Given the description of an element on the screen output the (x, y) to click on. 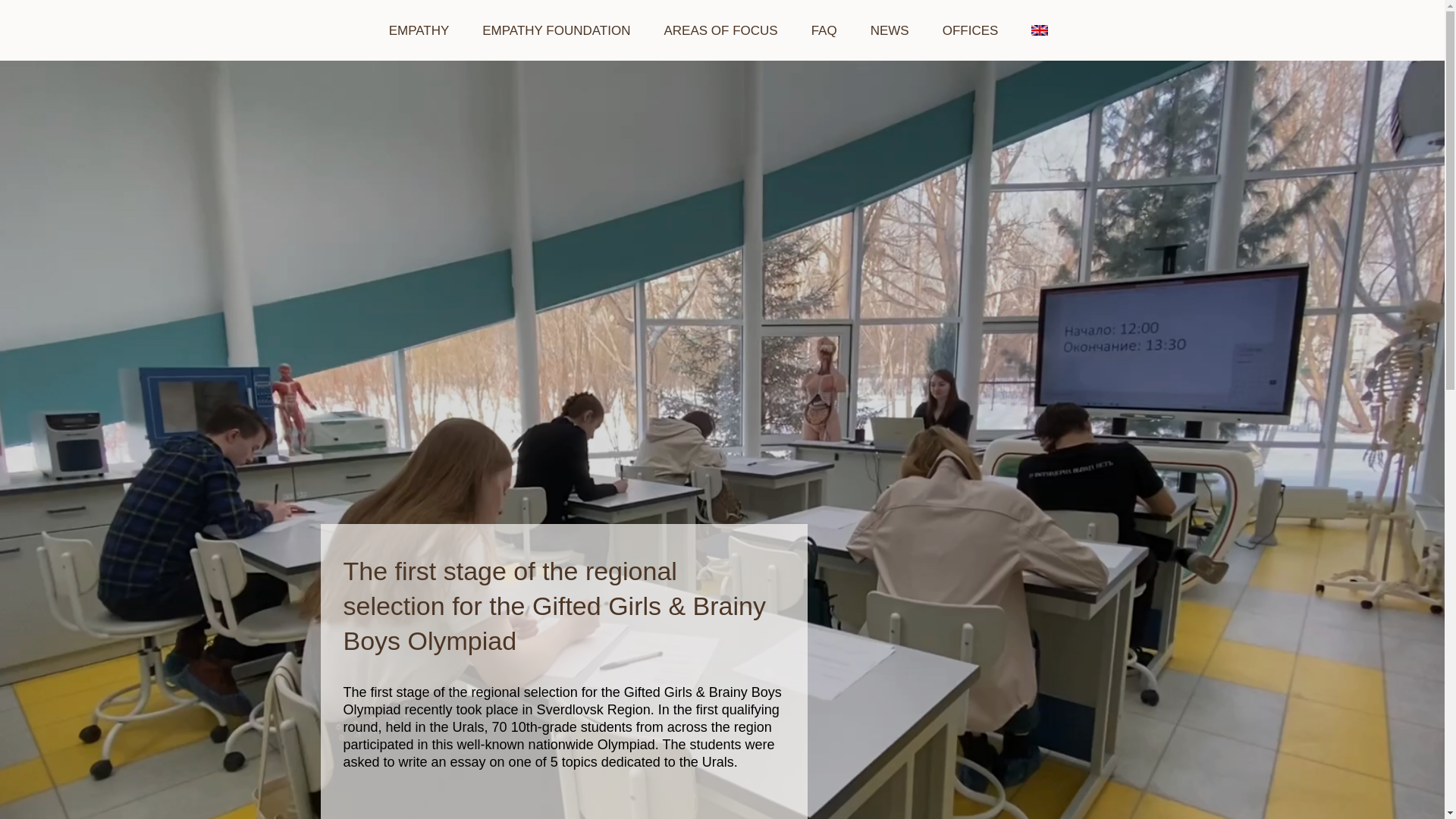
EMPATHY FOUNDATION (555, 30)
NEWS (889, 30)
AREAS OF FOCUS (719, 30)
WORKING WITH TEACHERS (721, 91)
WORKING WITH YOUTH (721, 153)
OFFICES (970, 30)
FAQ (823, 30)
ABOUT THE FOUNDER (555, 82)
EMPATHY (418, 30)
